Given the description of an element on the screen output the (x, y) to click on. 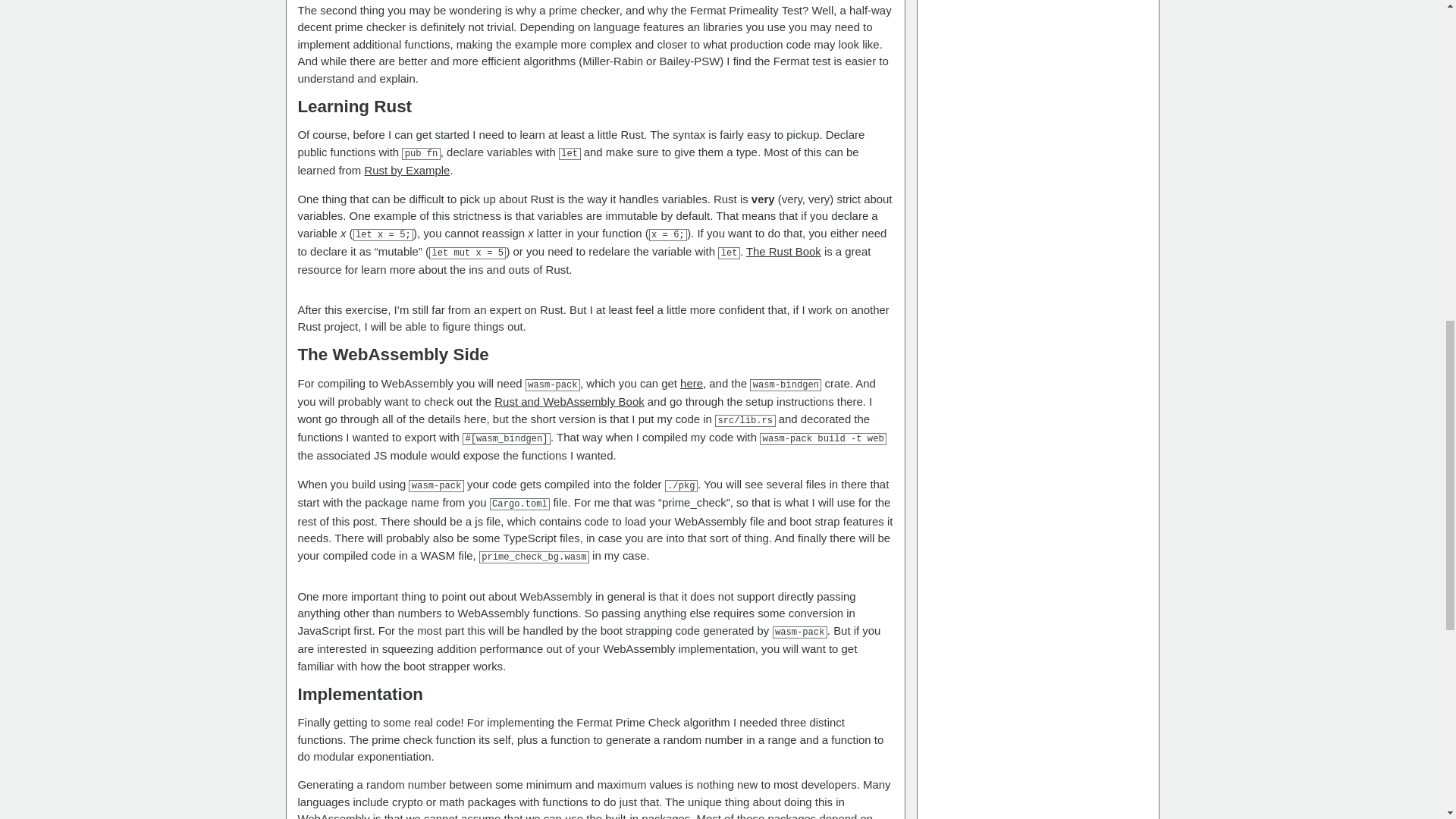
The Rust Book (783, 250)
Rust by Example (406, 169)
here (691, 382)
Rust and WebAssembly Book (569, 400)
